Given the description of an element on the screen output the (x, y) to click on. 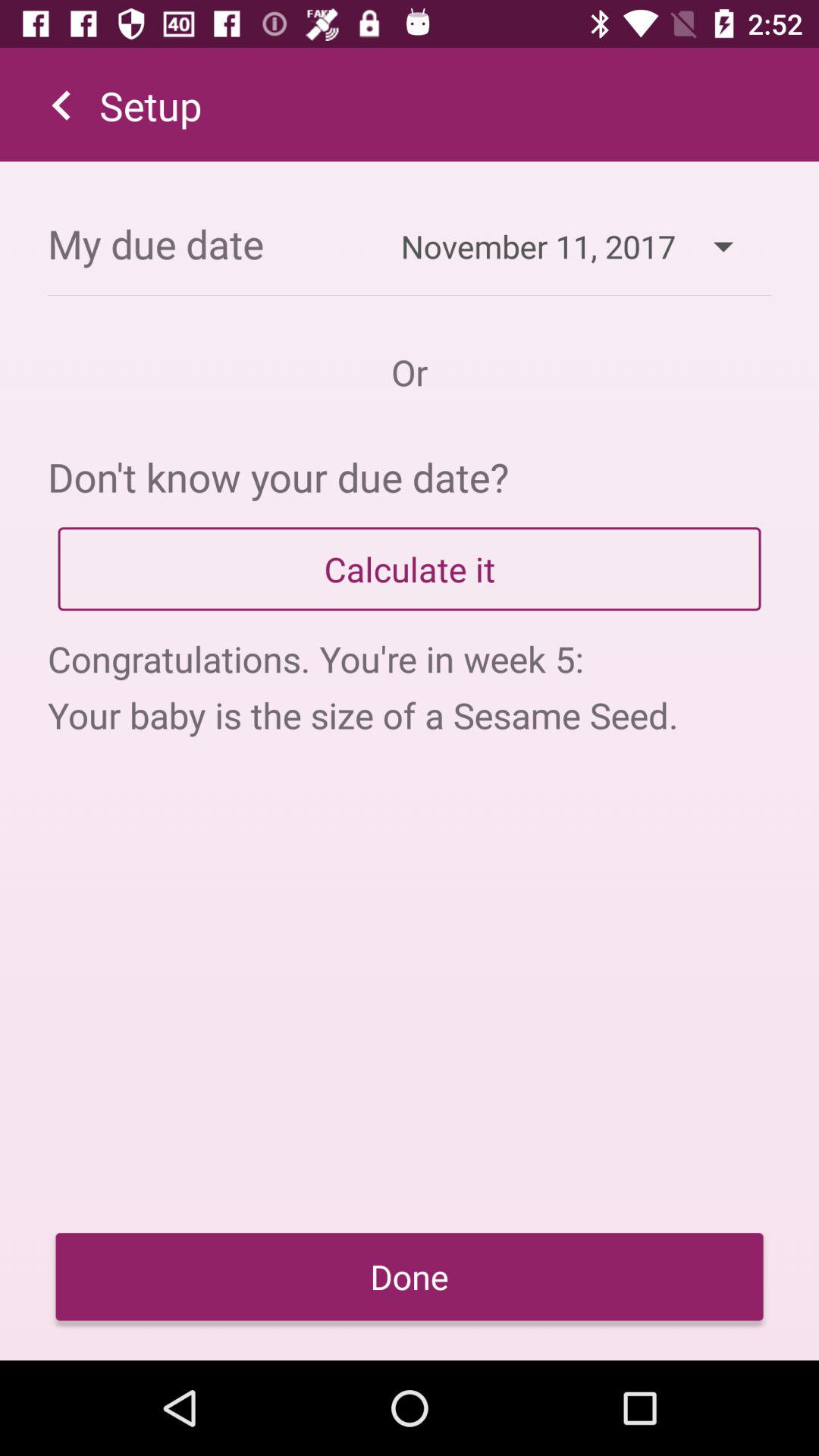
turn off the item below the your baby is icon (409, 1276)
